Given the description of an element on the screen output the (x, y) to click on. 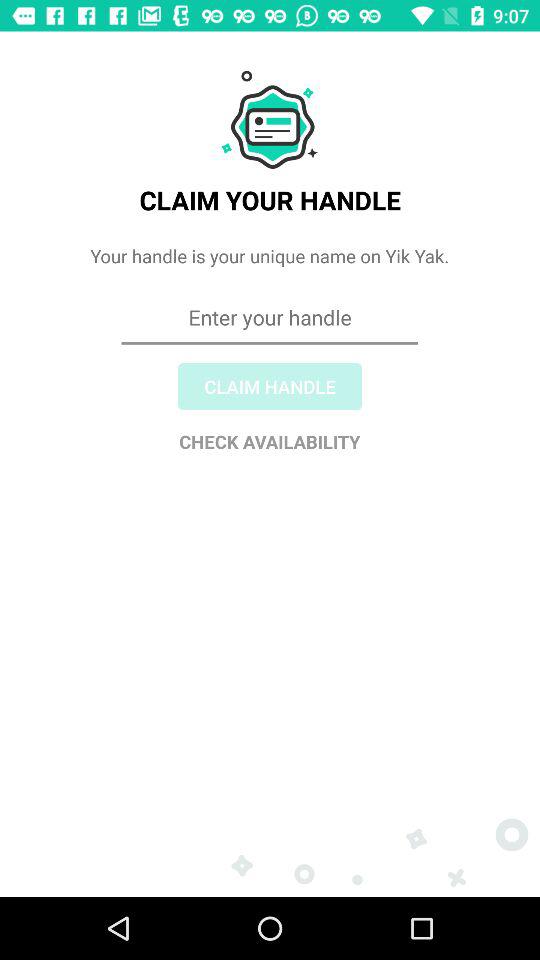
enter your username and claim it (269, 390)
